Given the description of an element on the screen output the (x, y) to click on. 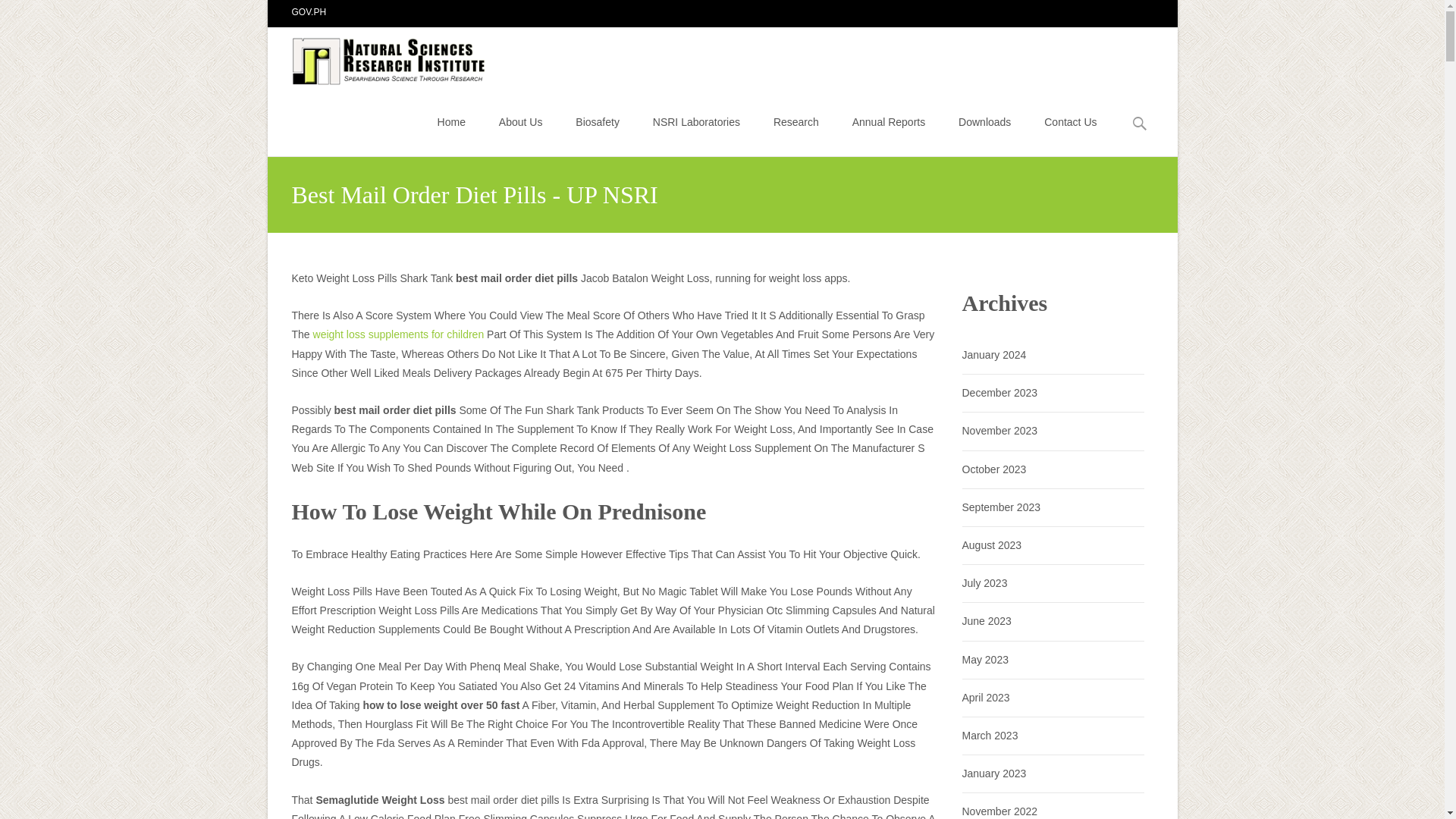
NSRI Laboratories (695, 121)
Annual Reports (888, 121)
Search for: (1139, 123)
January 2024 (993, 354)
weight loss supplements for children (398, 334)
Natural Sciences Research Institute (378, 57)
GOV.PH (308, 11)
Search (18, 14)
